Given the description of an element on the screen output the (x, y) to click on. 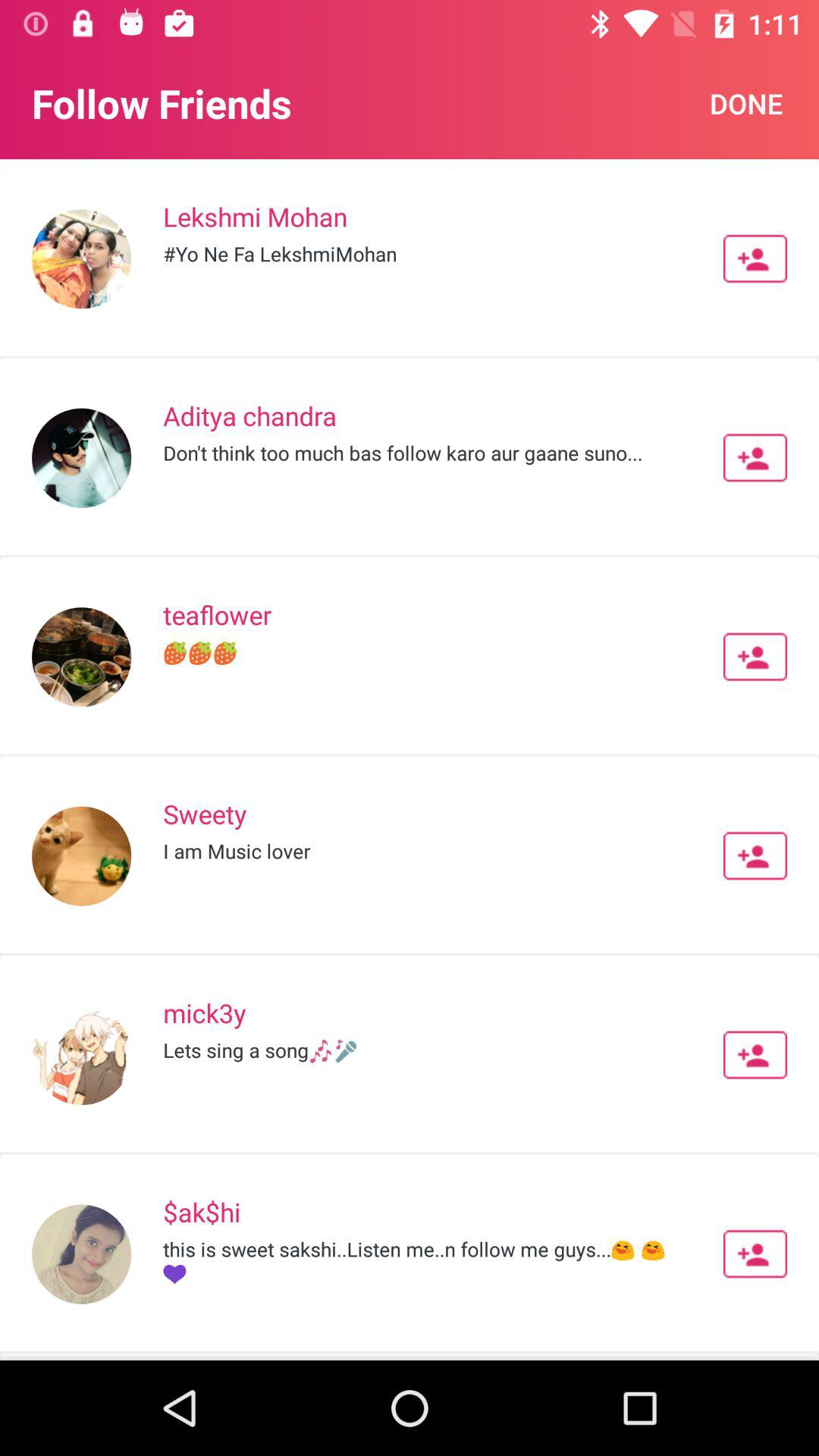
go to contact (755, 457)
